Given the description of an element on the screen output the (x, y) to click on. 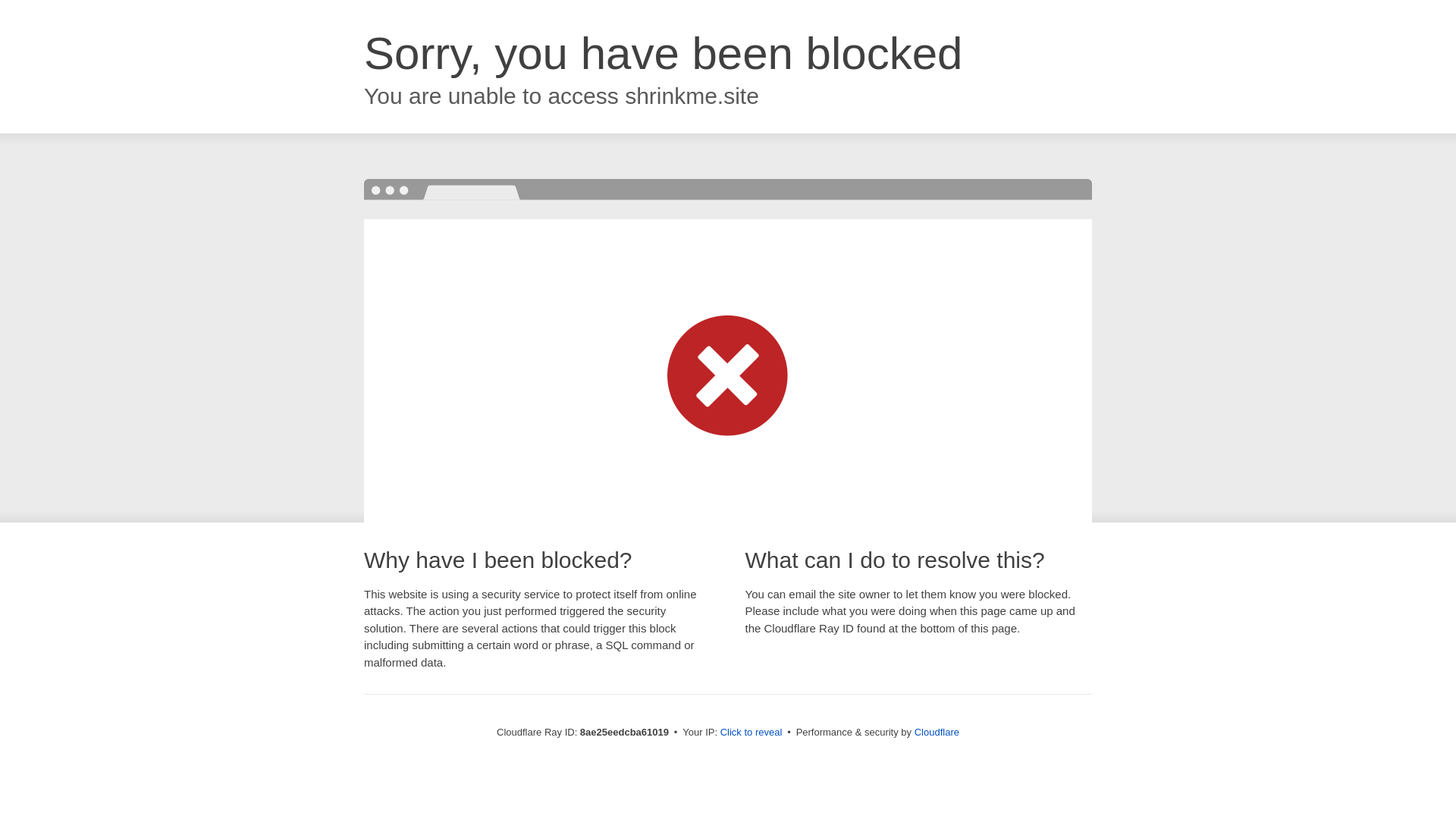
Click to reveal (751, 732)
Cloudflare (936, 731)
